Given the description of an element on the screen output the (x, y) to click on. 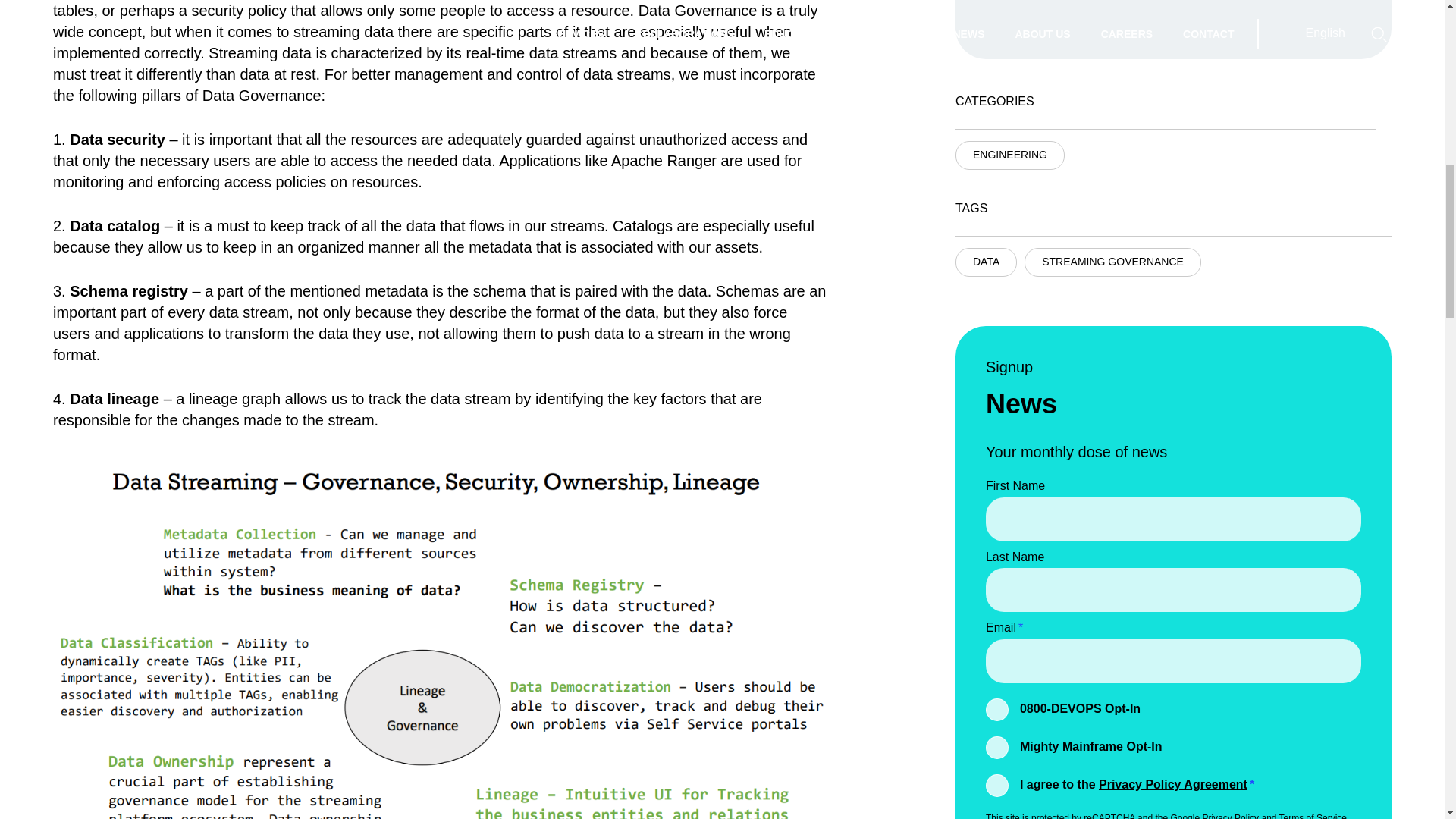
1 (997, 747)
Privacy Policy (1230, 816)
DATA (985, 262)
STREAMING GOVERNANCE (1113, 262)
Privacy Policy Agreement (1173, 784)
ENGINEERING (1009, 154)
1 (997, 709)
Terms of Service (1312, 816)
1 (997, 784)
